Given the description of an element on the screen output the (x, y) to click on. 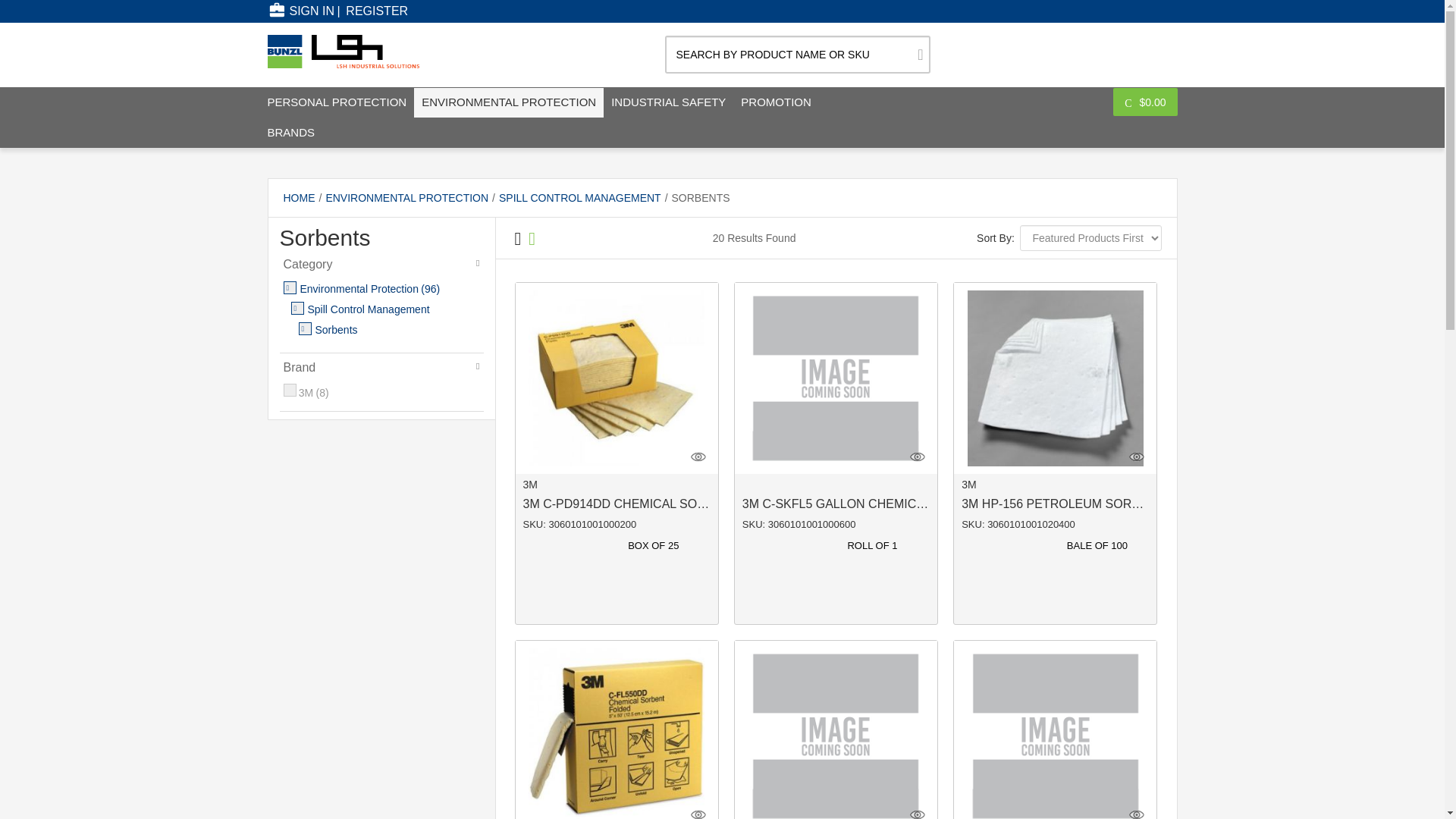
Start search. (920, 54)
REGISTER (376, 10)
SIGN IN (300, 10)
PERSONAL PROTECTION (336, 101)
